Given the description of an element on the screen output the (x, y) to click on. 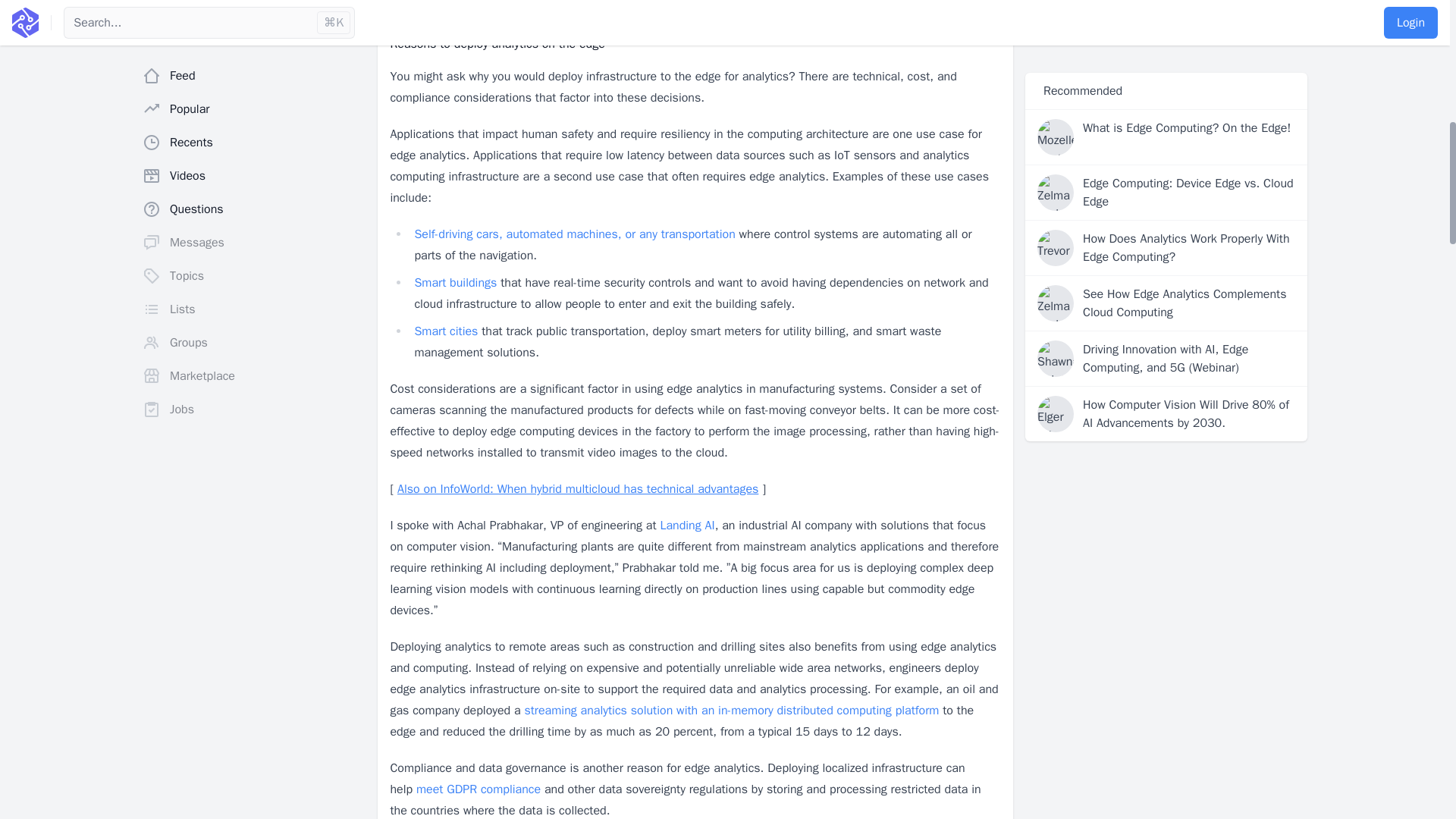
meet GDPR compliance (478, 789)
Smart cities (445, 331)
Landing AI (686, 525)
Smart buildings (454, 282)
Self-driving cars, automated machines, or any transportation (574, 233)
